Given the description of an element on the screen output the (x, y) to click on. 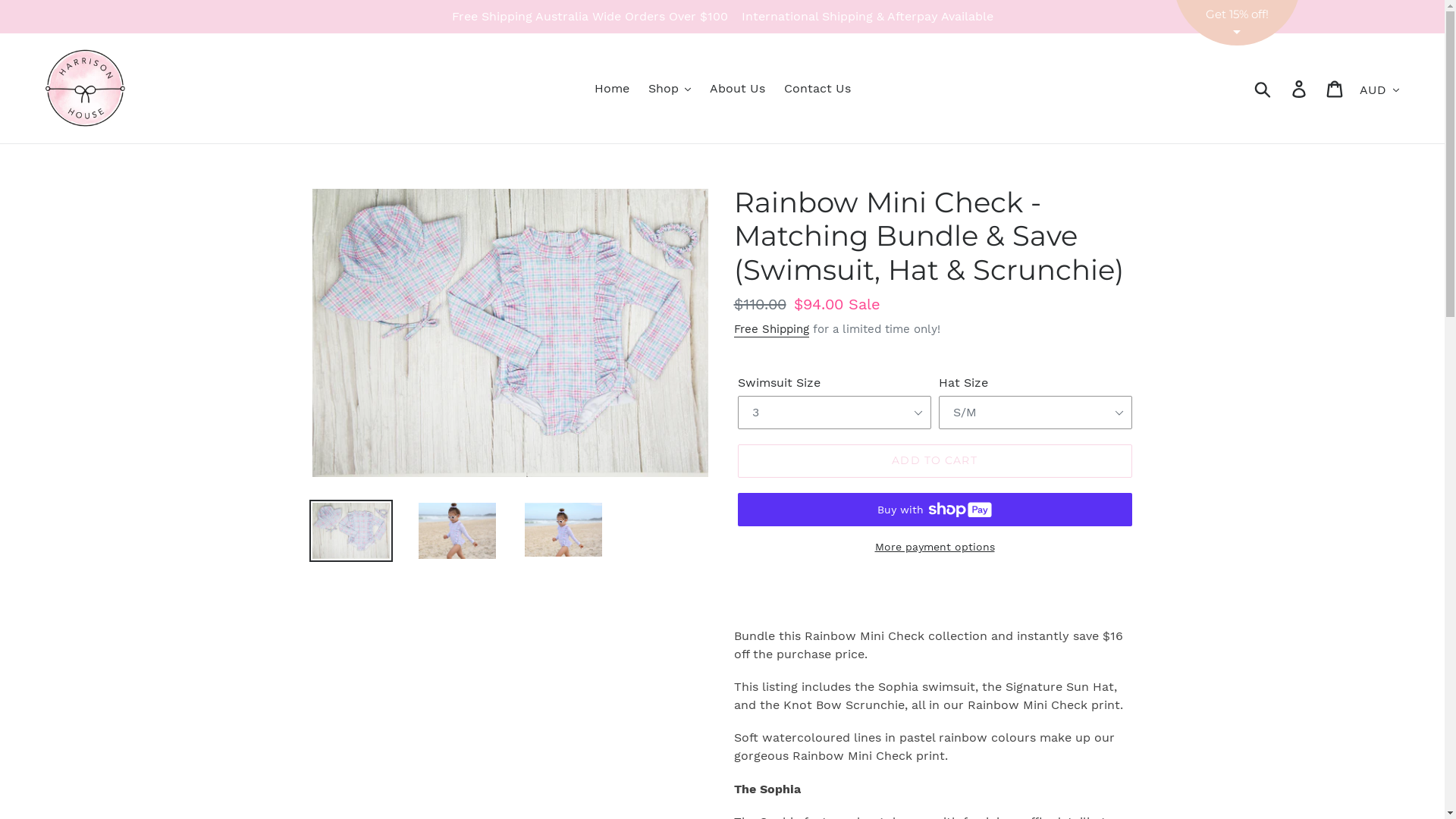
Log in Element type: text (1299, 88)
Submit Element type: text (1263, 87)
About Us Element type: text (737, 88)
More payment options Element type: text (934, 546)
Free Shipping Element type: text (771, 329)
Cart Element type: text (1335, 88)
Contact Us Element type: text (817, 88)
ADD TO CART Element type: text (934, 460)
Home Element type: text (611, 88)
